Given the description of an element on the screen output the (x, y) to click on. 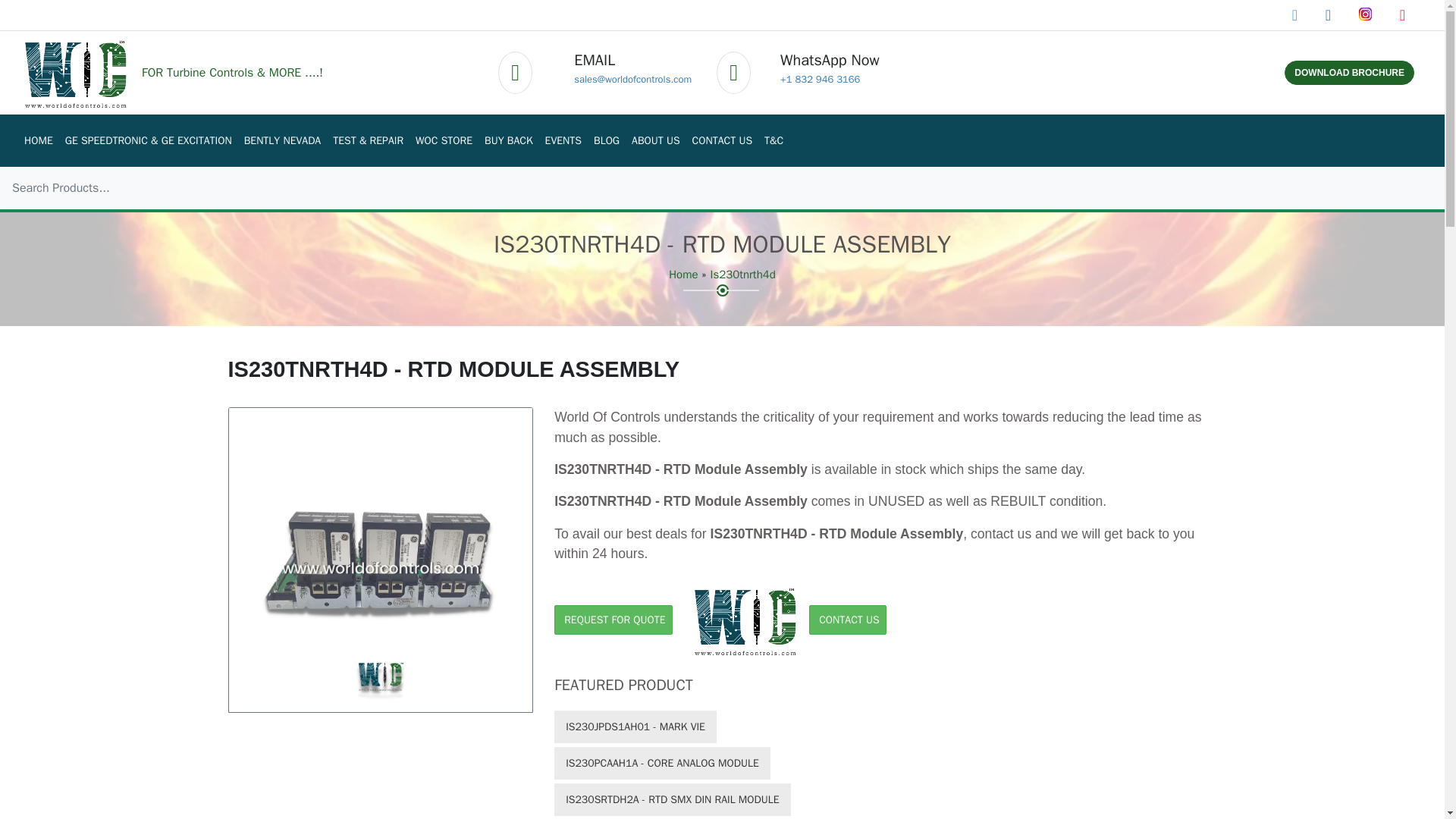
CONTACT US (721, 140)
WOC WhatsApp (820, 78)
WORLD OF CONTROLS YOUTUBE (1401, 14)
Home (682, 274)
BLOG (607, 140)
HOME (38, 140)
BLOG (607, 140)
CONTACT US (721, 140)
BUY BACK (508, 140)
EVENTS (563, 140)
